Given the description of an element on the screen output the (x, y) to click on. 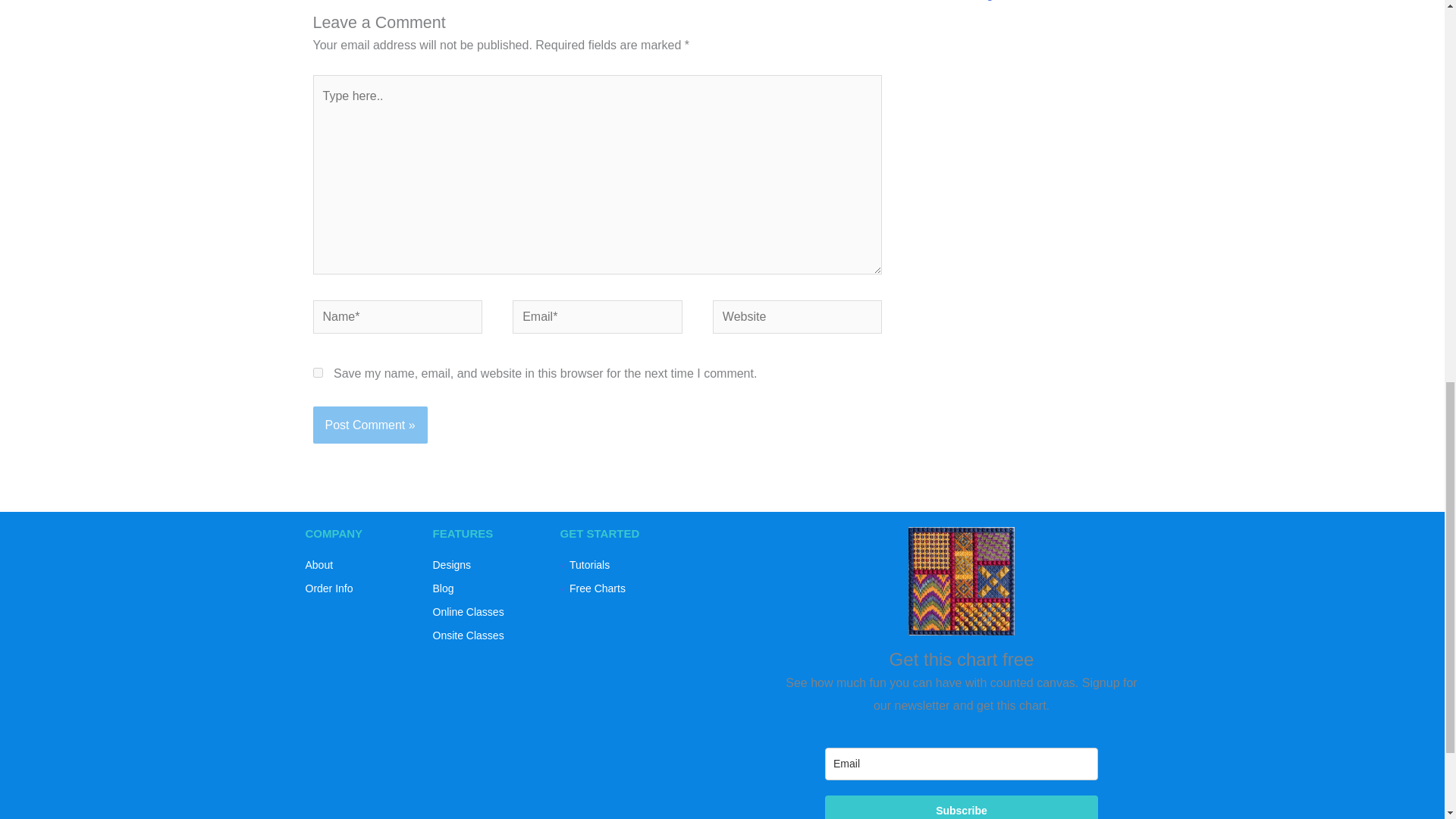
yes (317, 372)
